Given the description of an element on the screen output the (x, y) to click on. 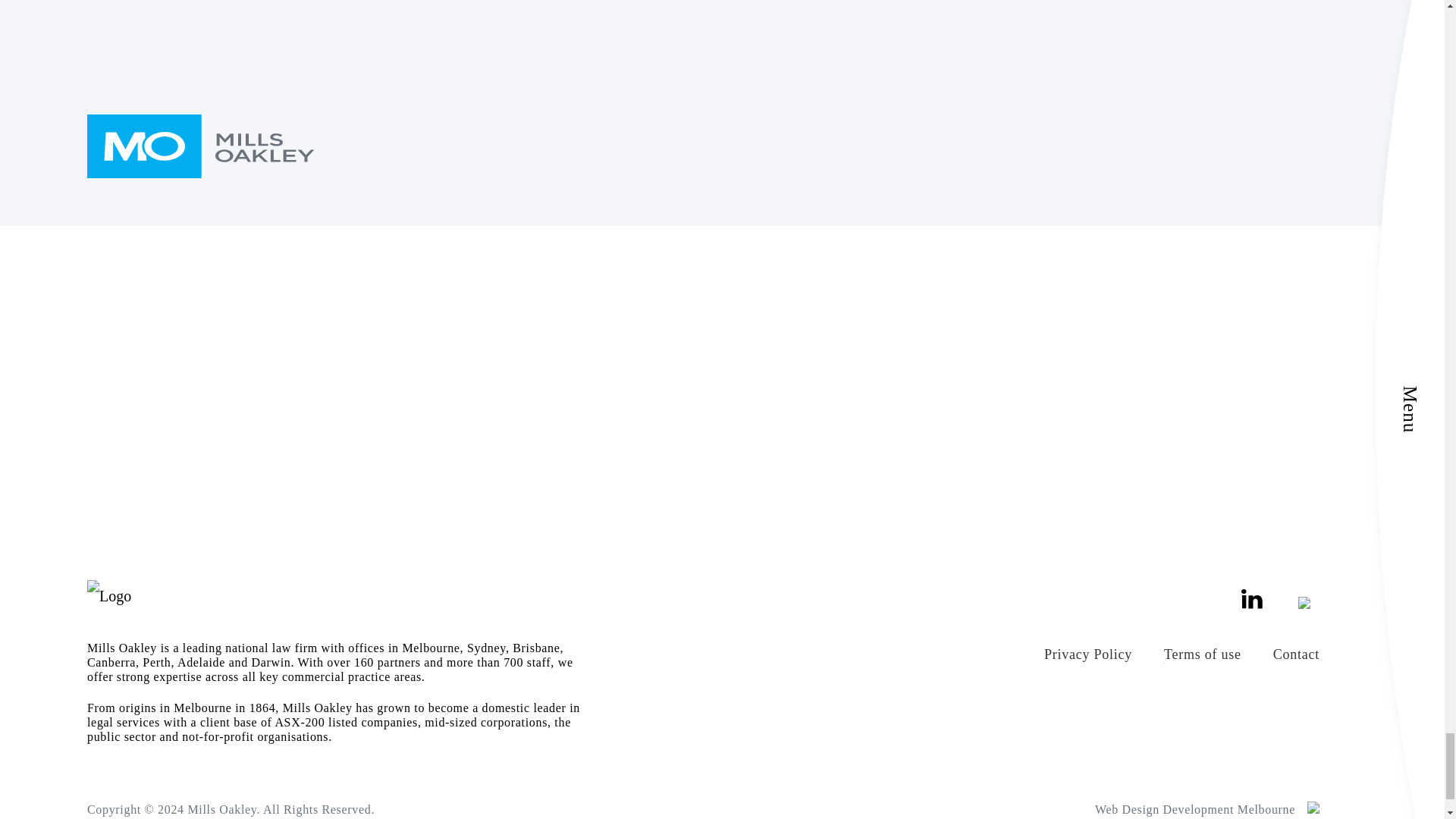
Join Now (950, 175)
